Given the description of an element on the screen output the (x, y) to click on. 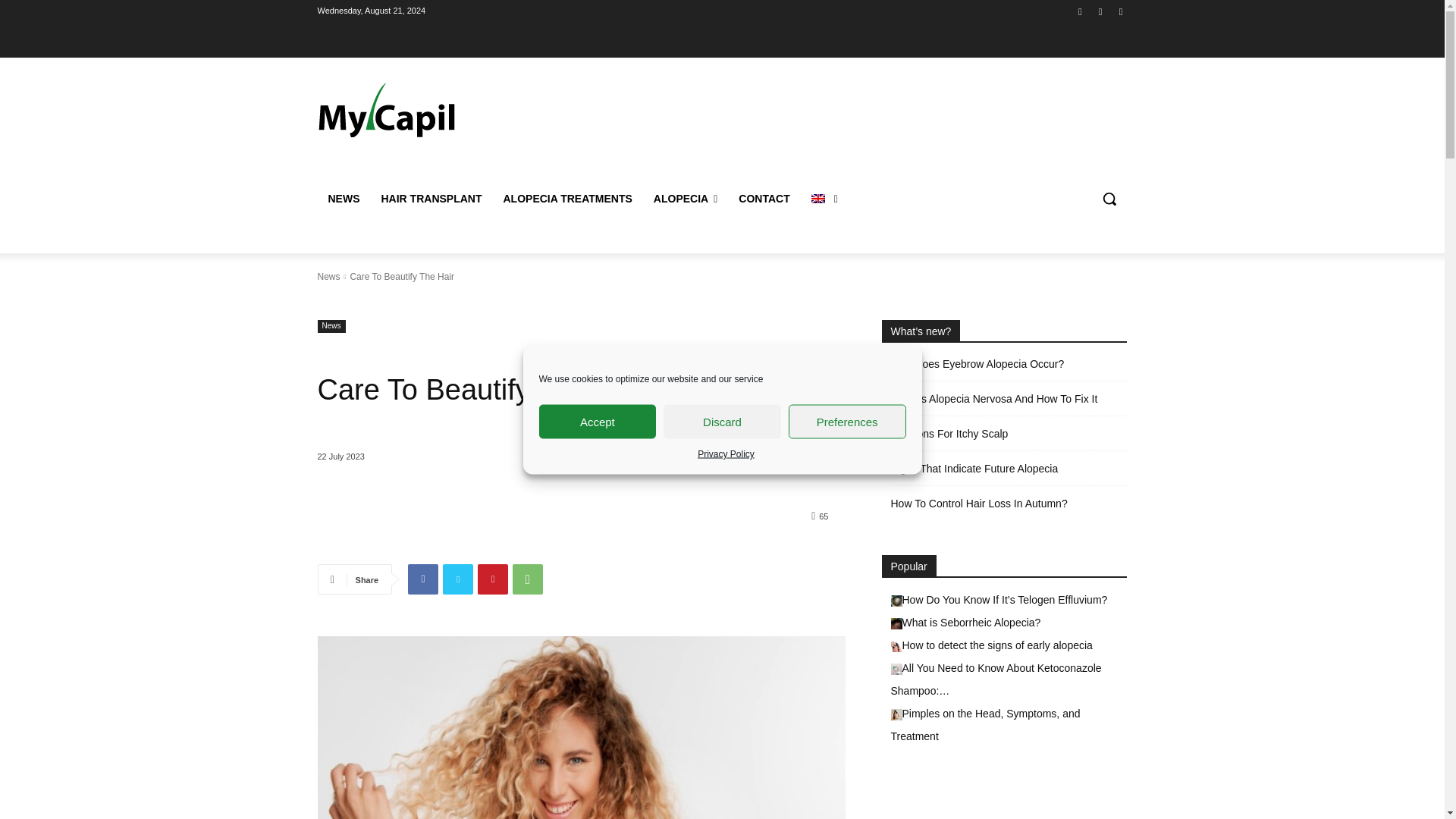
Youtube (1120, 10)
NEWS (343, 198)
HAIR TRANSPLANT (430, 198)
View all posts in News (328, 276)
WhatsApp (527, 579)
Pinterest (492, 579)
Facebook (1080, 10)
Instagram (1100, 10)
Care To Beautify The Hair 1 (580, 727)
Facebook (422, 579)
